Given the description of an element on the screen output the (x, y) to click on. 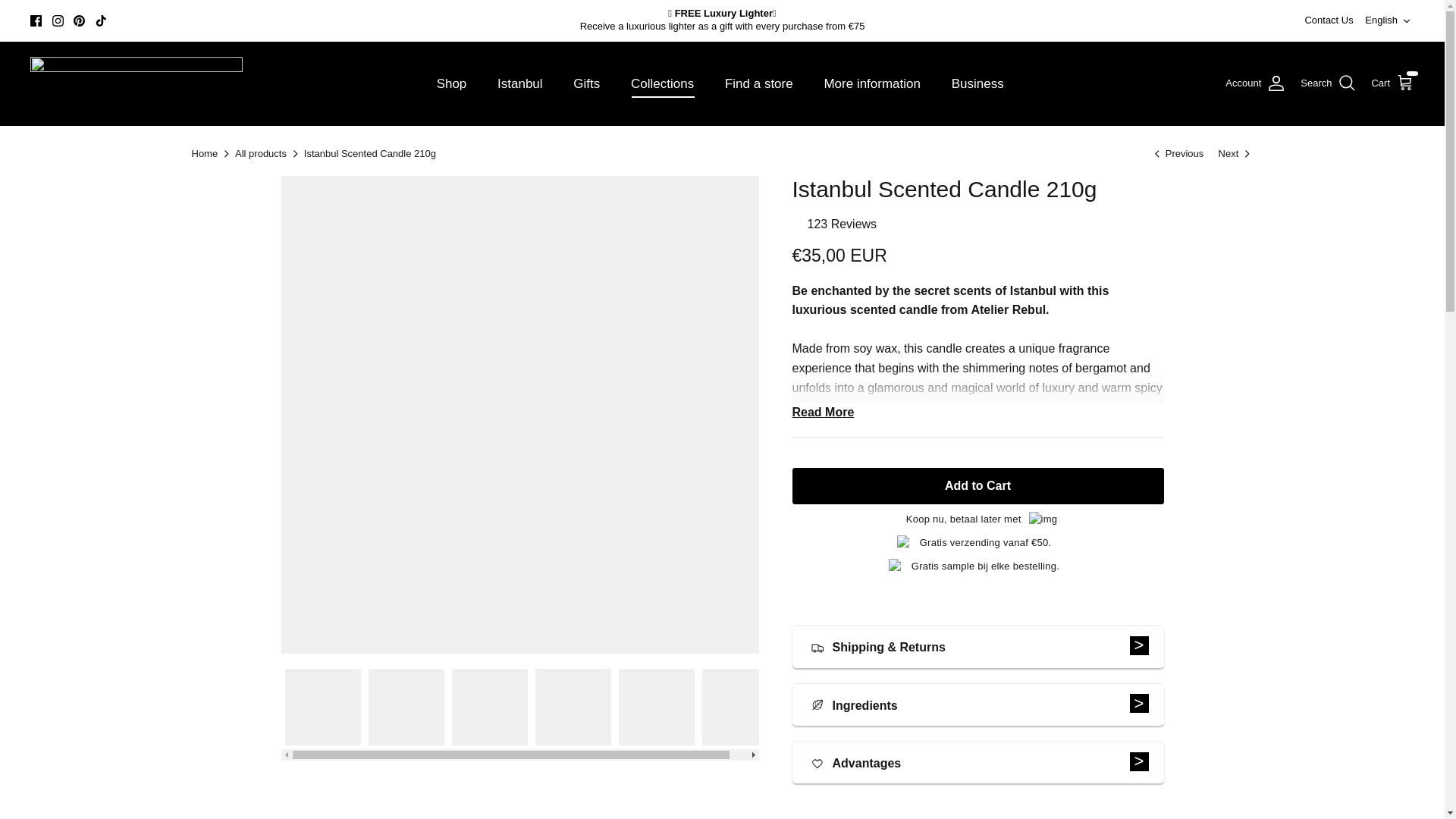
Instagram (58, 20)
Account (1255, 83)
More information (871, 83)
Find a store (758, 83)
Shop (451, 83)
Istanbul Shower Gel 430ml (1389, 20)
Contact Us (1235, 153)
Facebook (1328, 20)
Pinterest (36, 20)
